Given the description of an element on the screen output the (x, y) to click on. 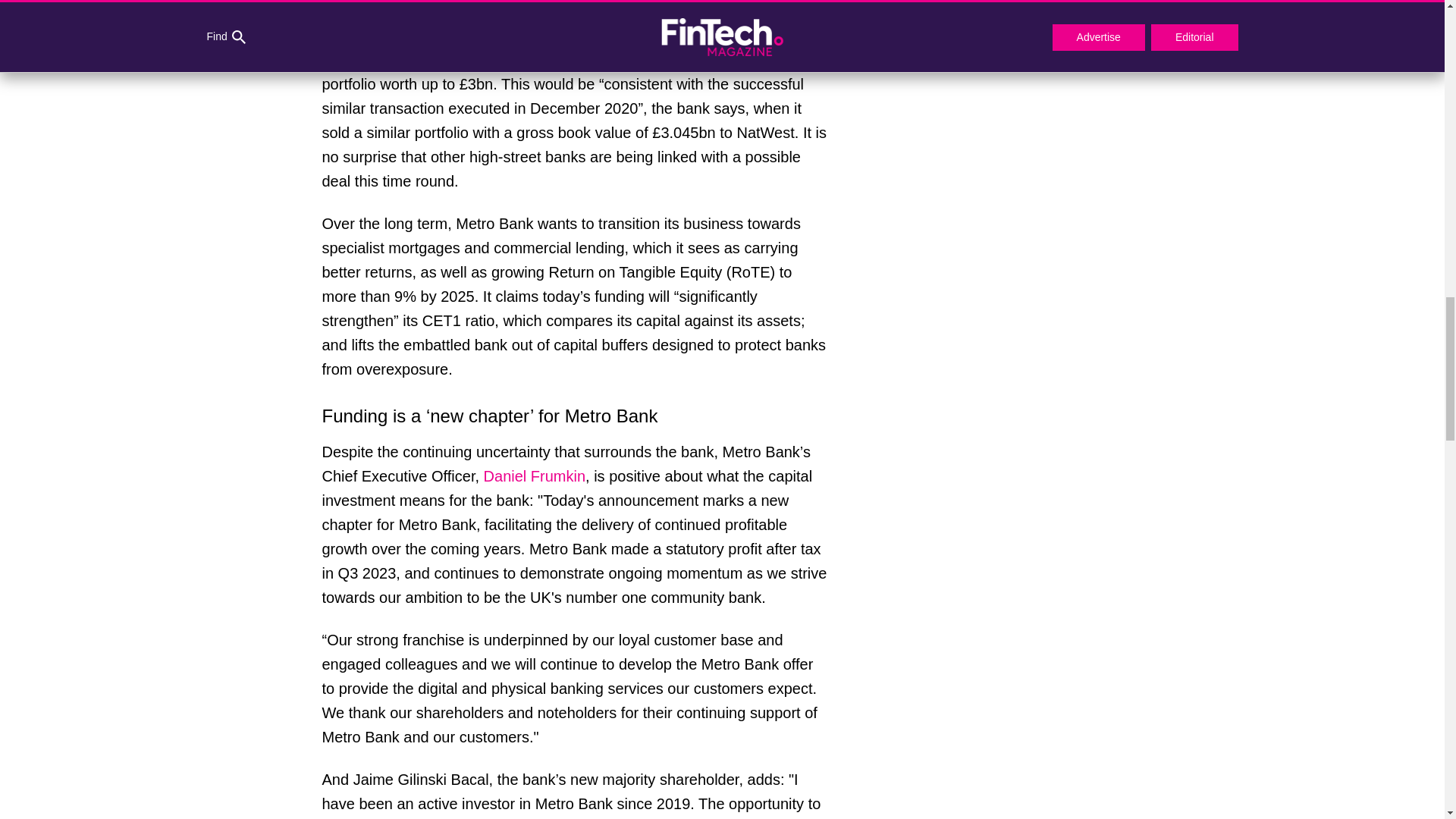
Daniel Frumkin (534, 475)
